Given the description of an element on the screen output the (x, y) to click on. 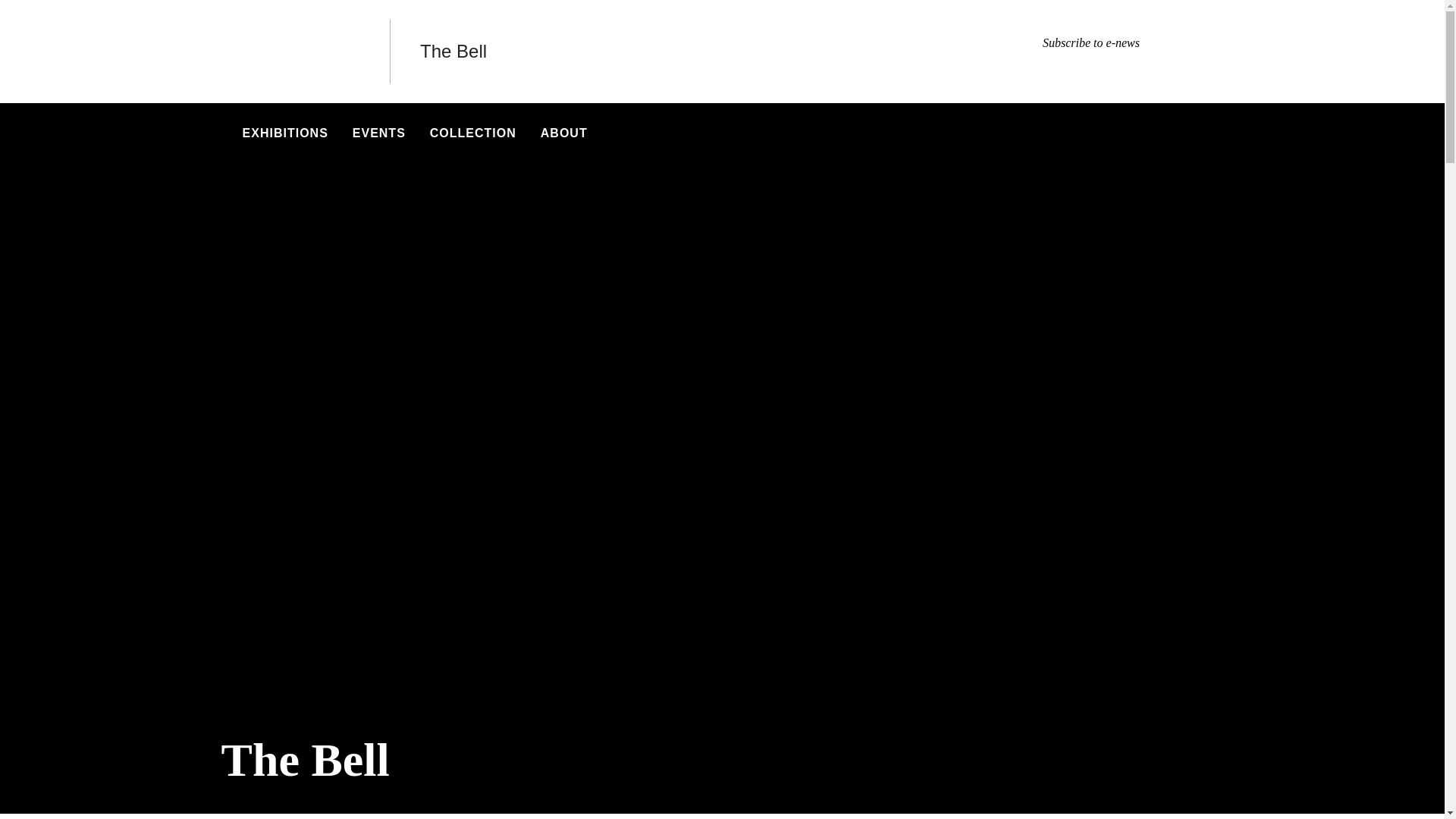
ABOUT (563, 133)
Subscribe to e-news (1091, 42)
EVENTS (379, 133)
EXHIBITIONS (285, 133)
Search (1207, 132)
COLLECTION (473, 133)
Brown University (290, 51)
The Bell (453, 50)
